Given the description of an element on the screen output the (x, y) to click on. 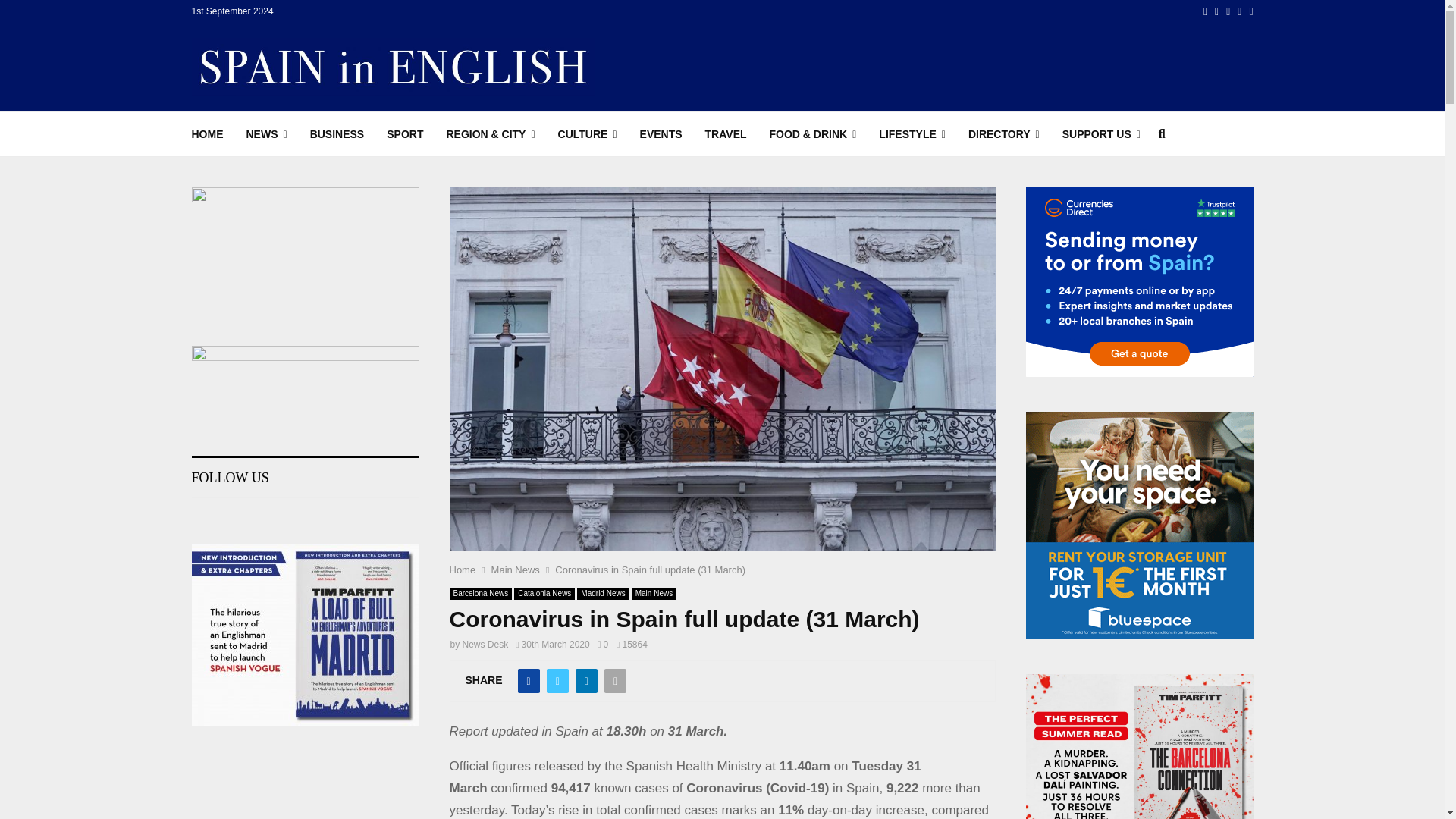
BUSINESS (337, 134)
EVENTS (661, 134)
NEWS (266, 134)
Sign up new account (722, 415)
Login to your account (722, 293)
TRAVEL (725, 134)
LIFESTYLE (911, 134)
CULTURE (587, 134)
